Given the description of an element on the screen output the (x, y) to click on. 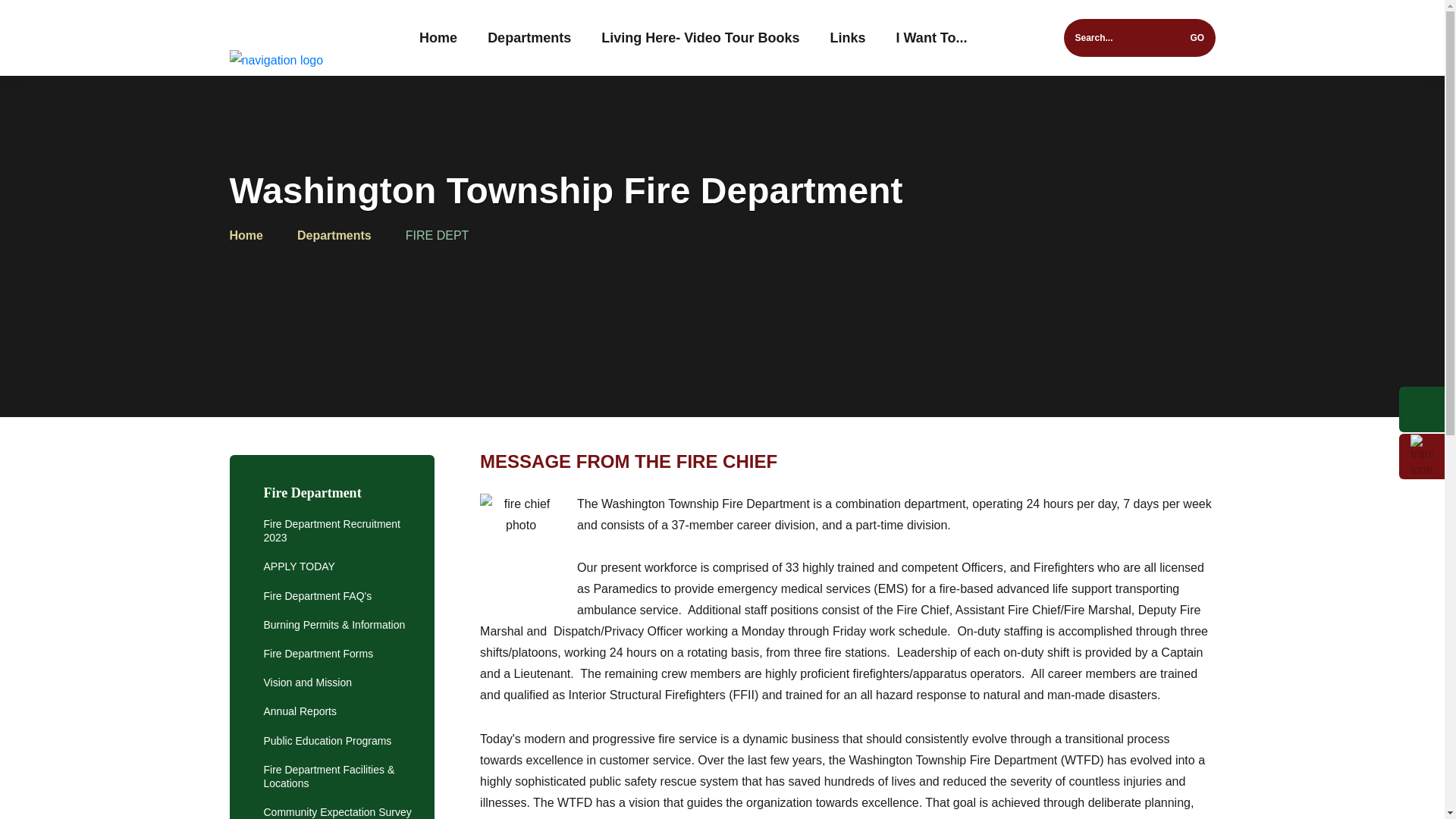
Departments (528, 38)
Home (437, 38)
Living Here- Video Tour Books (699, 38)
